Given the description of an element on the screen output the (x, y) to click on. 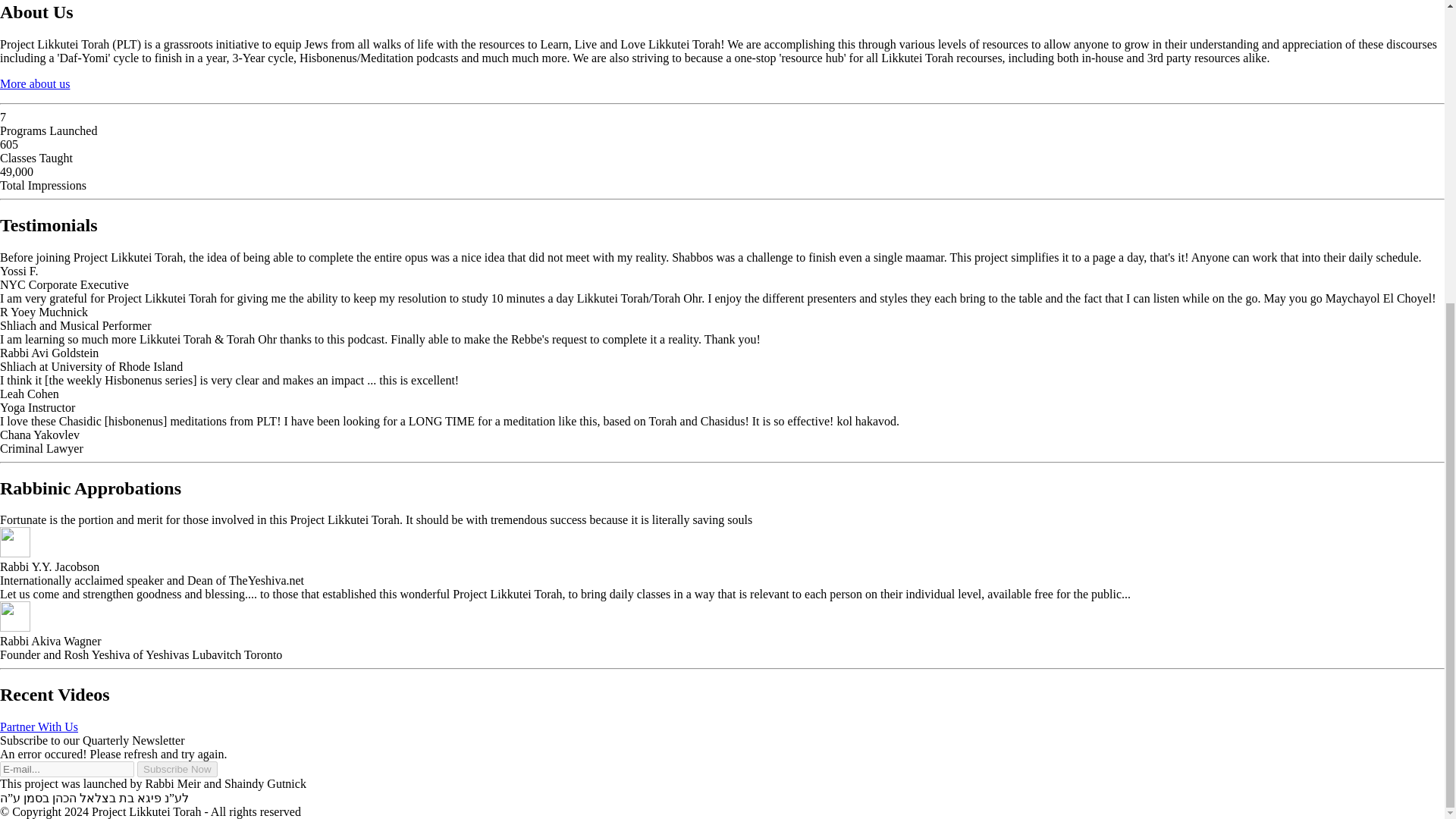
Partner With Us (39, 726)
More about us (34, 83)
Subscribe Now (176, 769)
